Given the description of an element on the screen output the (x, y) to click on. 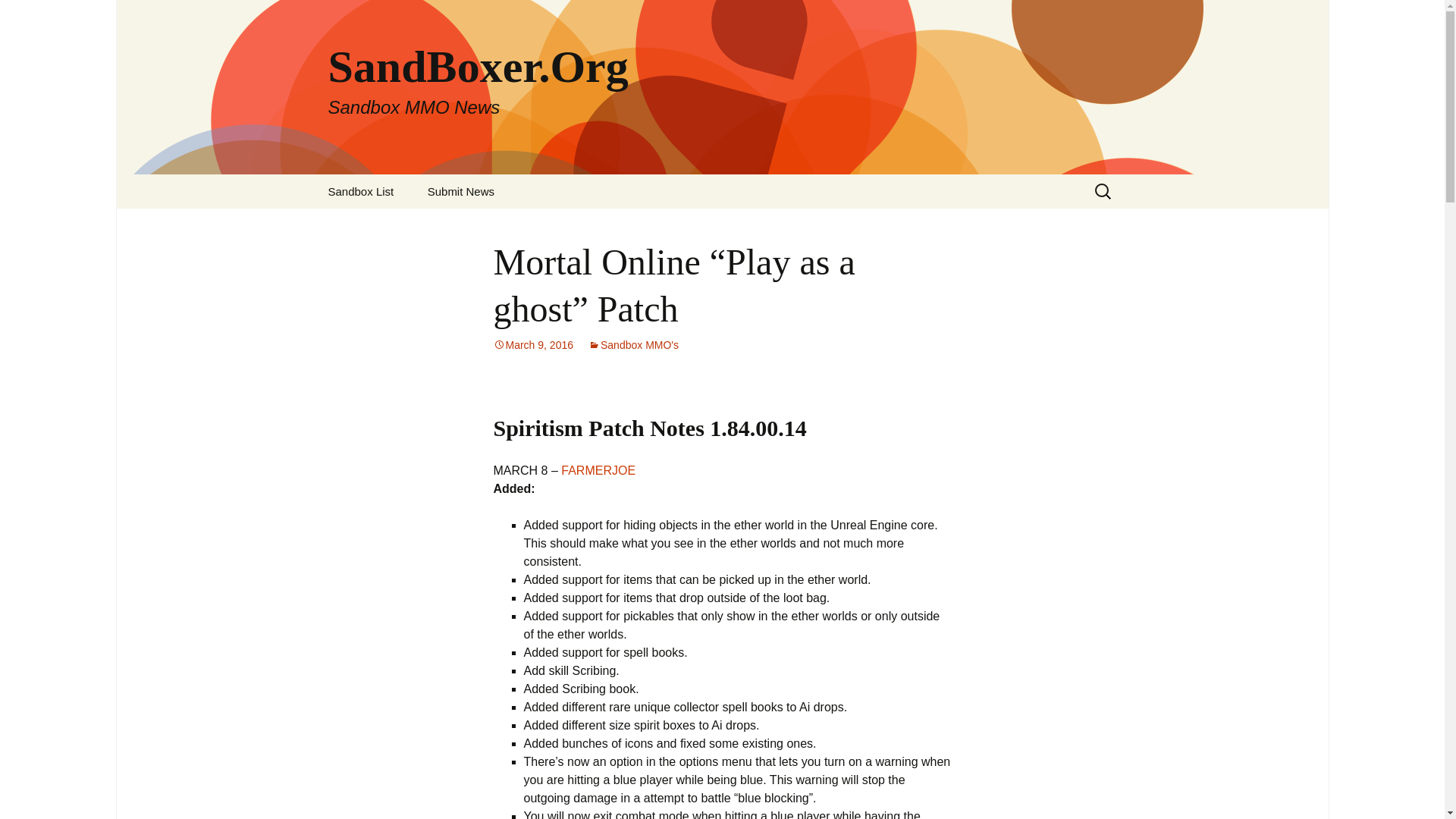
Submit News (460, 191)
Sandbox MMO's (633, 345)
FARMERJOE (597, 470)
Sandbox List (18, 15)
March 9, 2016 (361, 191)
